Given the description of an element on the screen output the (x, y) to click on. 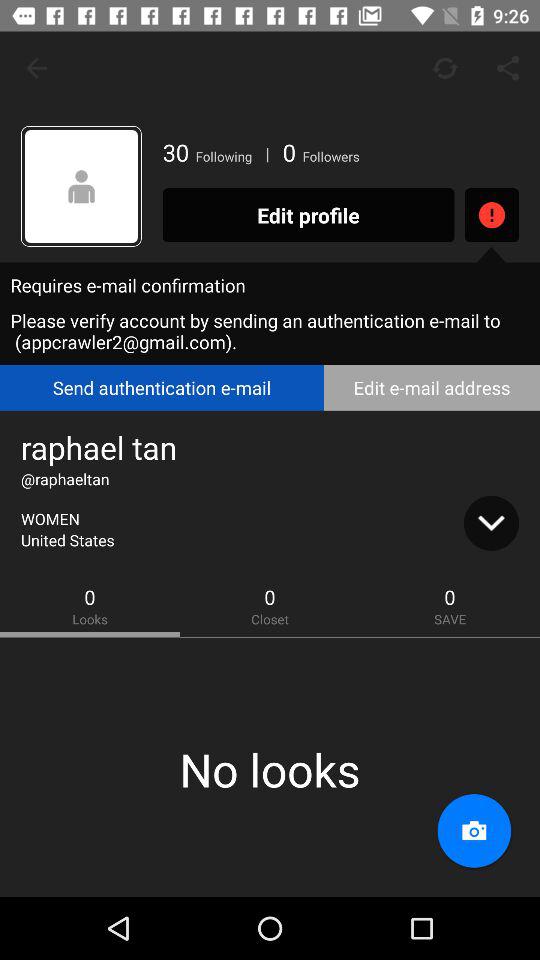
select item to the left of the 30 (81, 186)
